Given the description of an element on the screen output the (x, y) to click on. 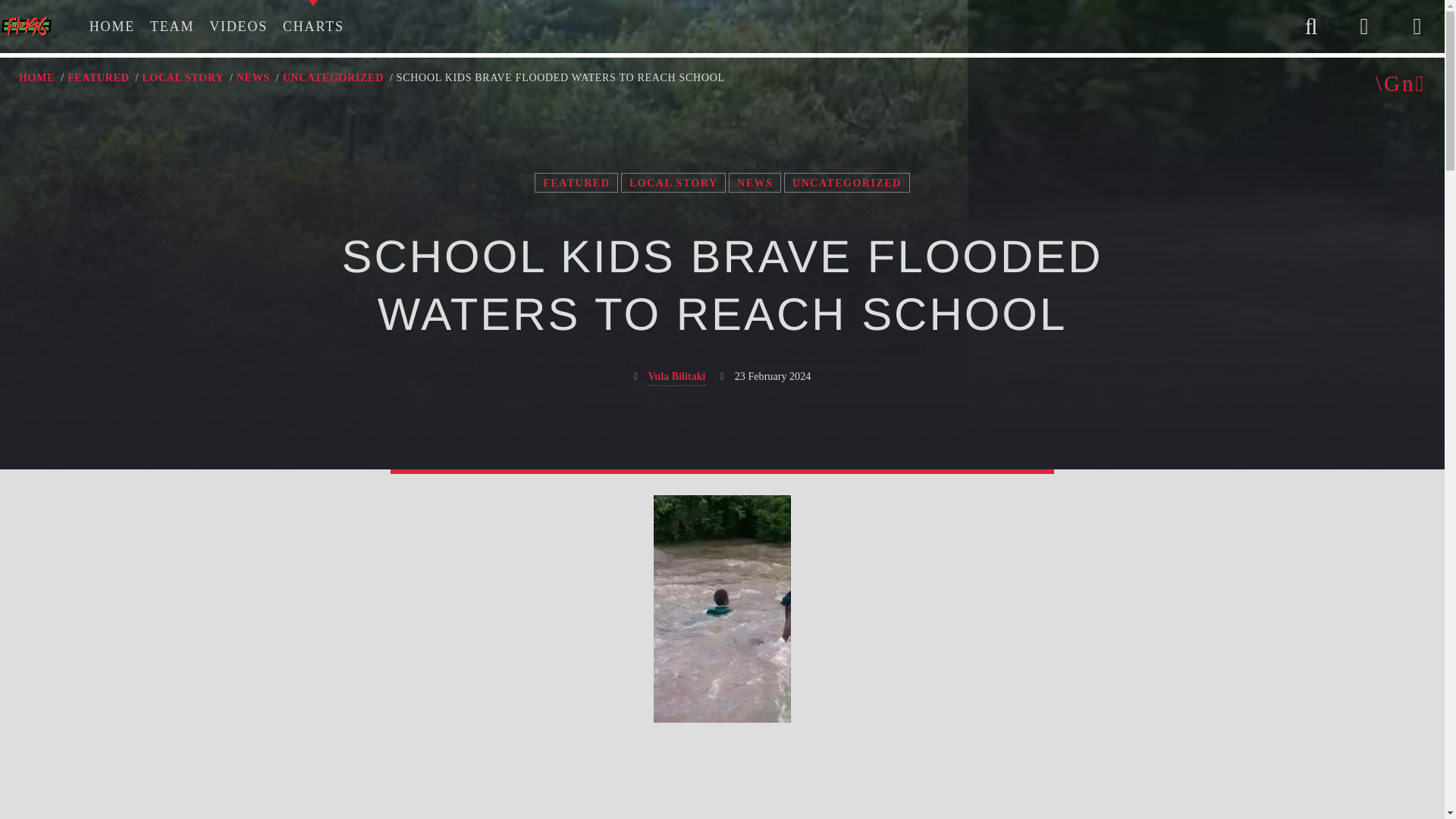
LOCAL STORY (673, 182)
UNCATEGORIZED (847, 182)
Posts by Vula Bilitaki (675, 377)
Vula Bilitaki (675, 377)
FEATURED (97, 77)
HOME (111, 26)
FEATURED (575, 182)
NEWS (252, 77)
LOCAL STORY (182, 77)
UNCATEGORIZED (333, 77)
TEAM (172, 26)
HOME (36, 77)
CHARTS (313, 26)
VIDEOS (238, 26)
NEWS (754, 182)
